Given the description of an element on the screen output the (x, y) to click on. 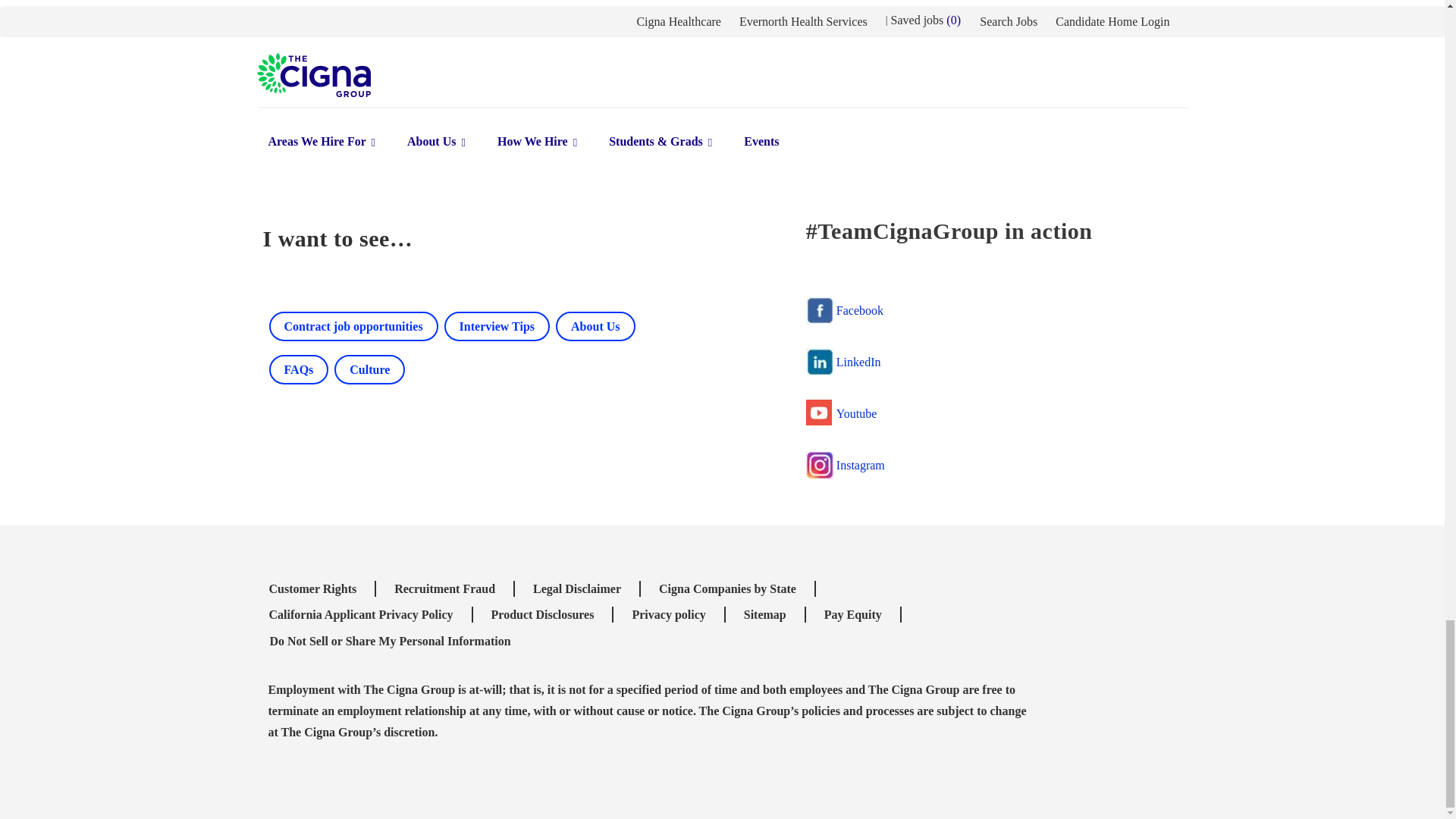
Learn about Cigna's culture (298, 369)
Get Interview Tips (369, 369)
Visit the corporate website (497, 326)
View contract job opportunities (595, 326)
